Given the description of an element on the screen output the (x, y) to click on. 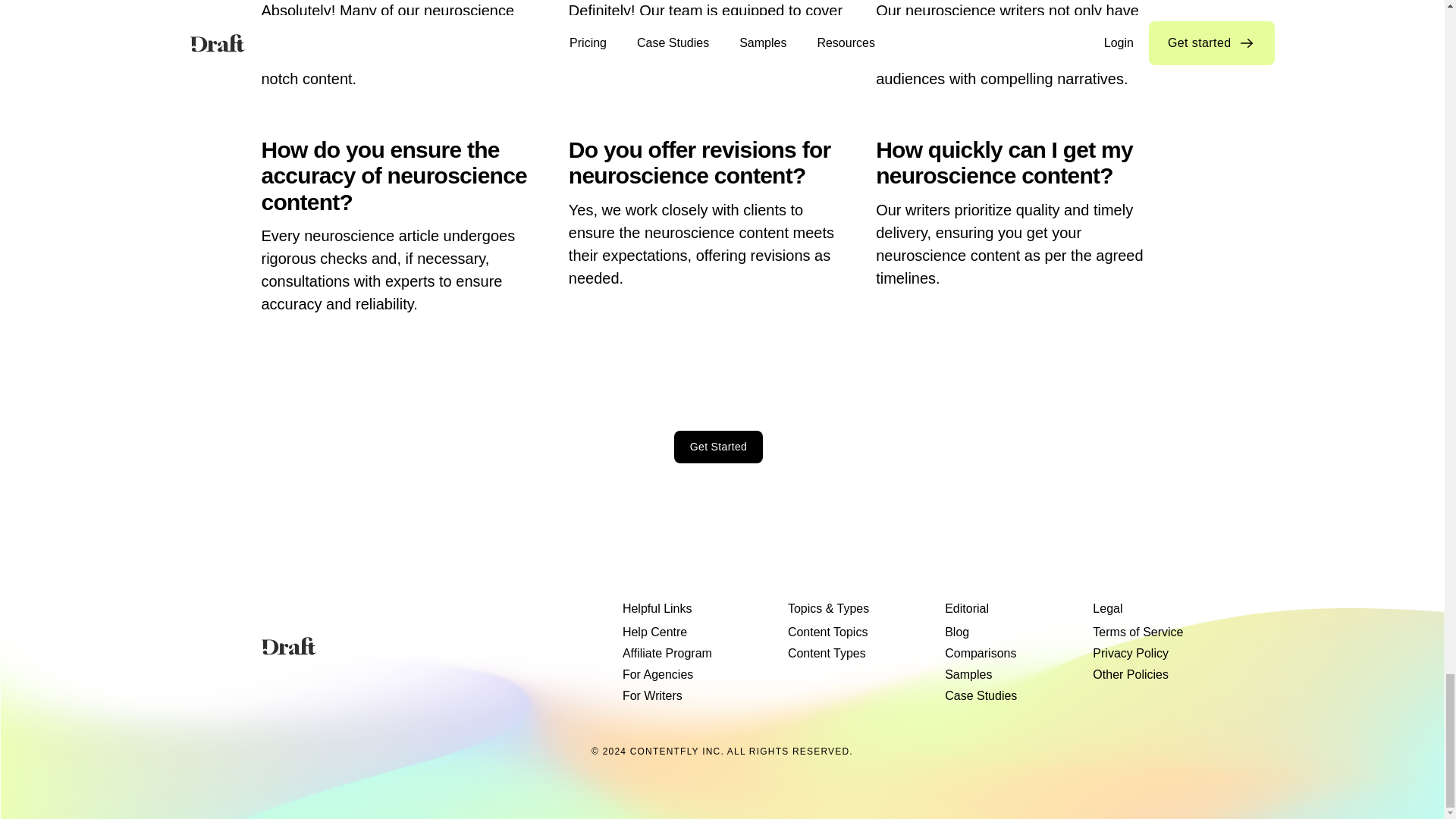
Case Studies (980, 695)
Privacy Policy (1131, 653)
Get Started (718, 446)
Content Topics (827, 631)
Comparisons (980, 653)
Affiliate Program (667, 653)
For Agencies (658, 674)
For Writers (652, 695)
Terms of Service (1137, 631)
Samples (967, 674)
